Given the description of an element on the screen output the (x, y) to click on. 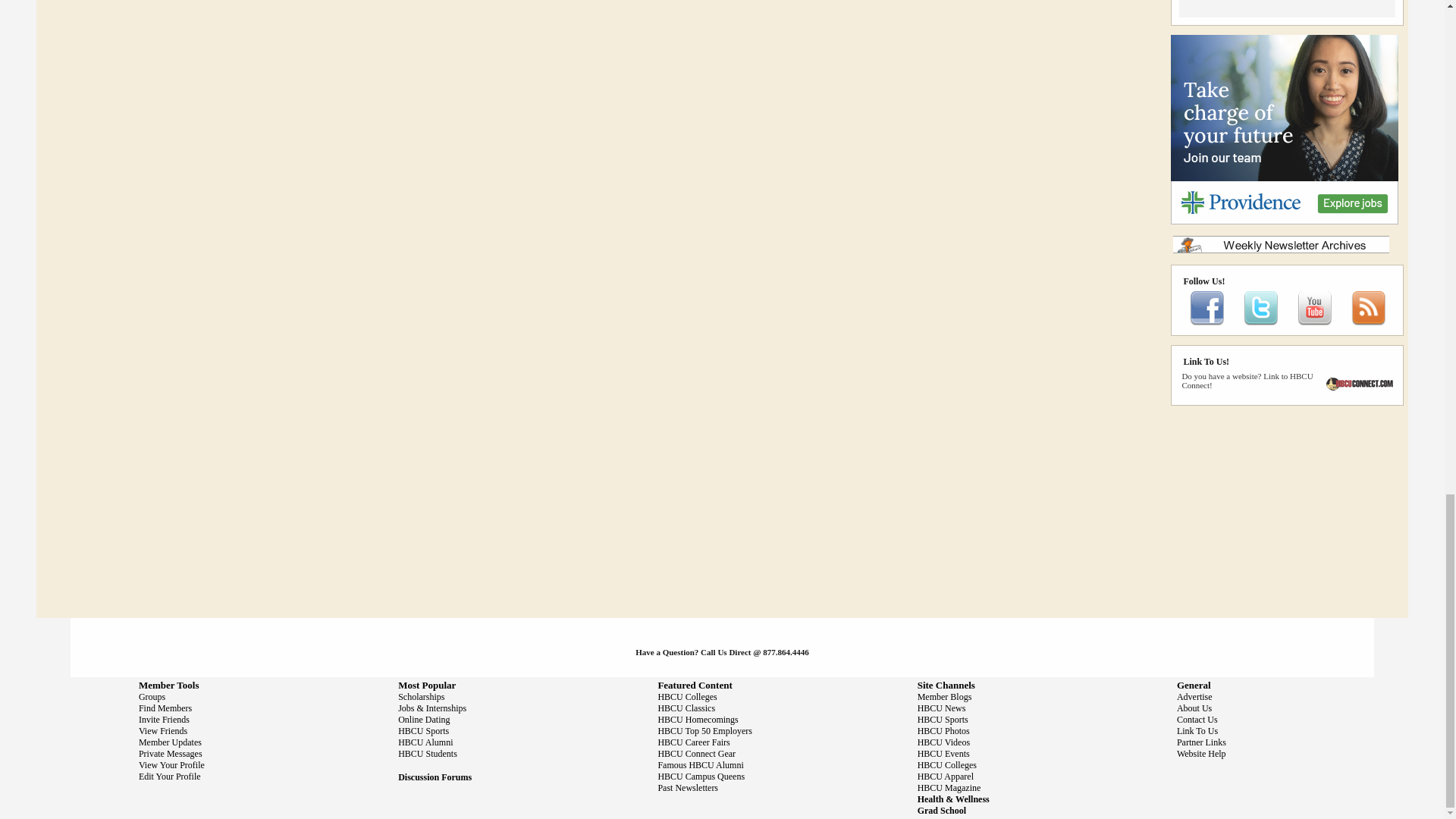
Follow us via RSS! (1368, 321)
Follow us on Facebook! (1206, 321)
Follow us on YouTube! (1314, 321)
Follow us on Twitter! (1260, 321)
